Given the description of an element on the screen output the (x, y) to click on. 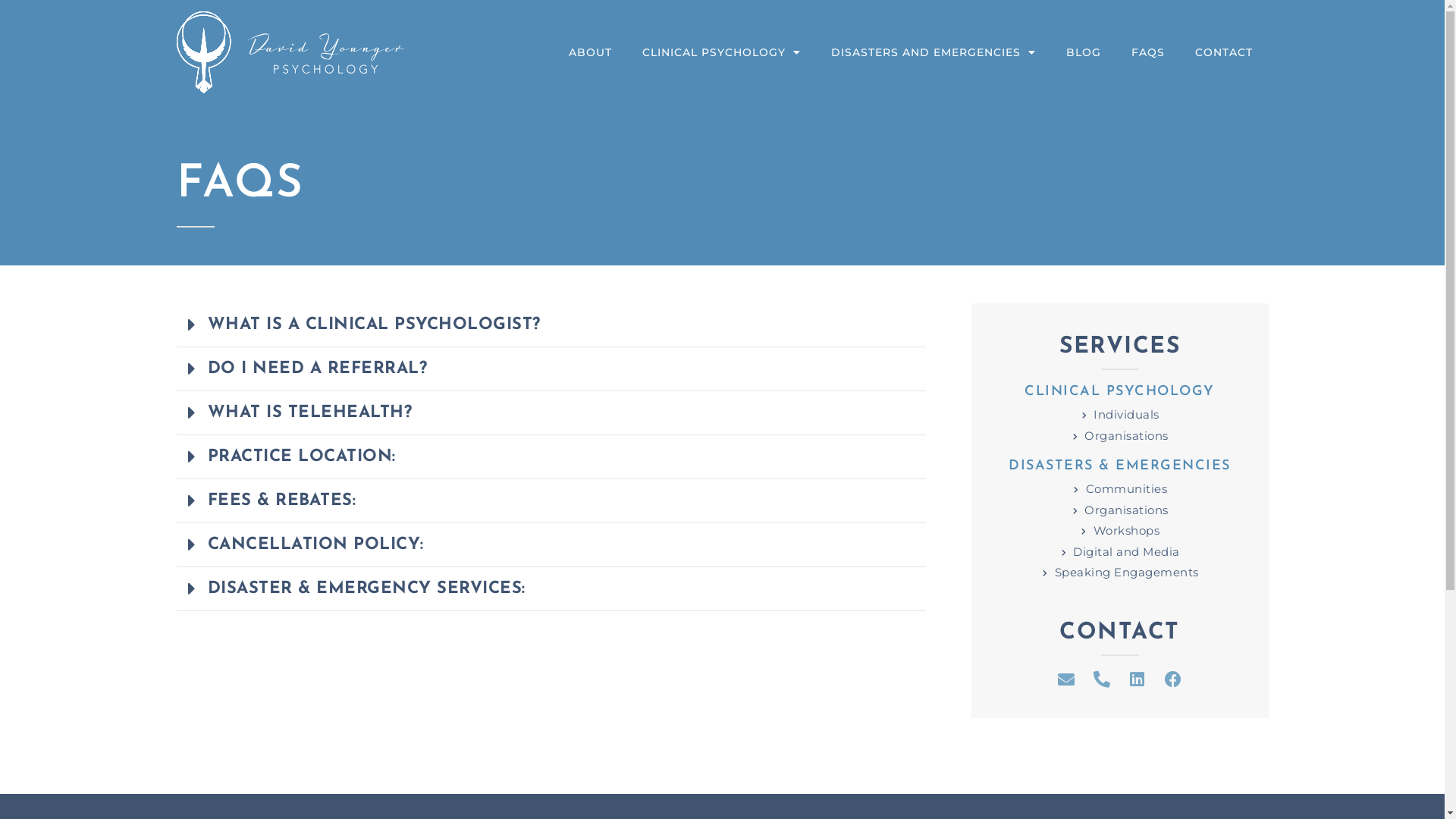
ABOUT Element type: text (590, 51)
Workshops Element type: text (1118, 530)
Communities Element type: text (1118, 489)
WHAT IS A CLINICAL PSYCHOLOGIST? Element type: text (373, 324)
Speaking Engagements Element type: text (1118, 572)
DISASTERS AND EMERGENCIES Element type: text (933, 51)
CLINICAL PSYCHOLOGY Element type: text (721, 51)
FEES & REBATES: Element type: text (281, 500)
CONTACT Element type: text (1223, 51)
CANCELLATION POLICY: Element type: text (315, 544)
BLOG Element type: text (1083, 51)
PRACTICE LOCATION: Element type: text (301, 456)
Organisations Element type: text (1118, 436)
Digital and Media Element type: text (1118, 552)
DISASTER & EMERGENCY SERVICES: Element type: text (366, 588)
DO I NEED A REFERRAL? Element type: text (317, 368)
WHAT IS TELEHEALTH? Element type: text (309, 412)
FAQS Element type: text (1147, 51)
Individuals Element type: text (1118, 414)
Organisations Element type: text (1118, 510)
